Given the description of an element on the screen output the (x, y) to click on. 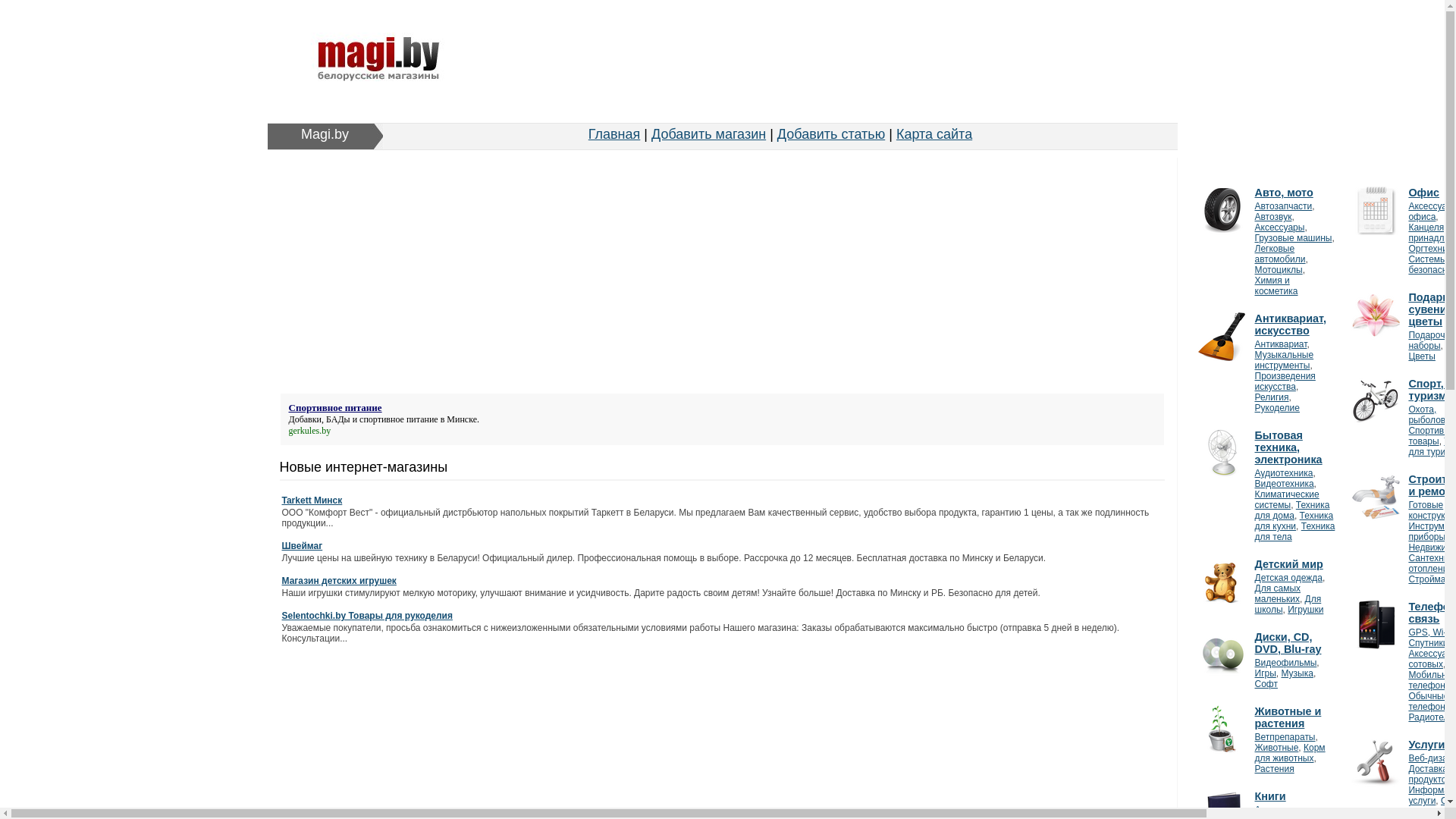
Advertisement Element type: hover (721, 275)
Advertisement Element type: hover (835, 65)
